Given the description of an element on the screen output the (x, y) to click on. 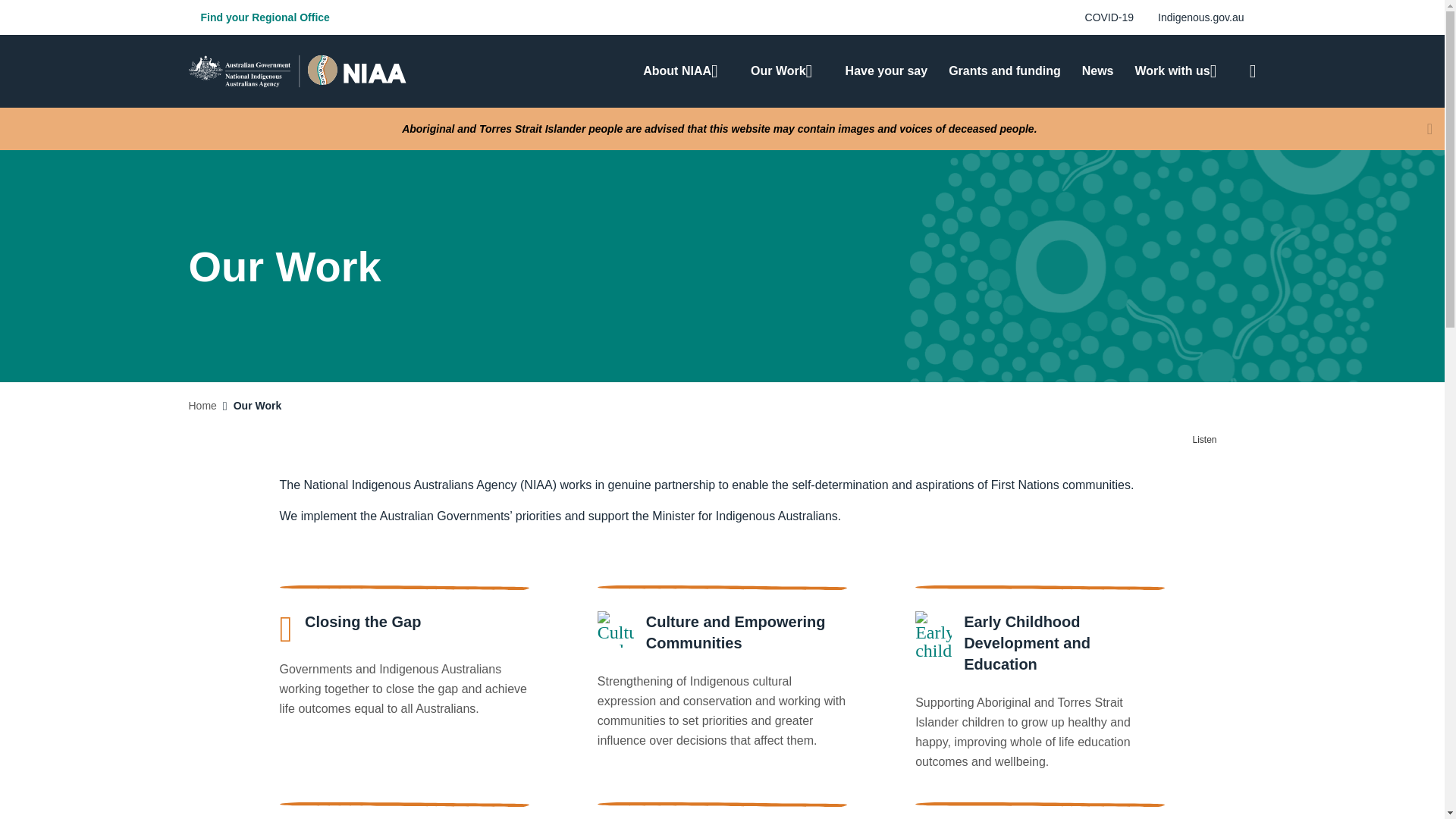
Logo NIAA (296, 70)
Listen to this page using ReadSpeaker (1212, 439)
